Given the description of an element on the screen output the (x, y) to click on. 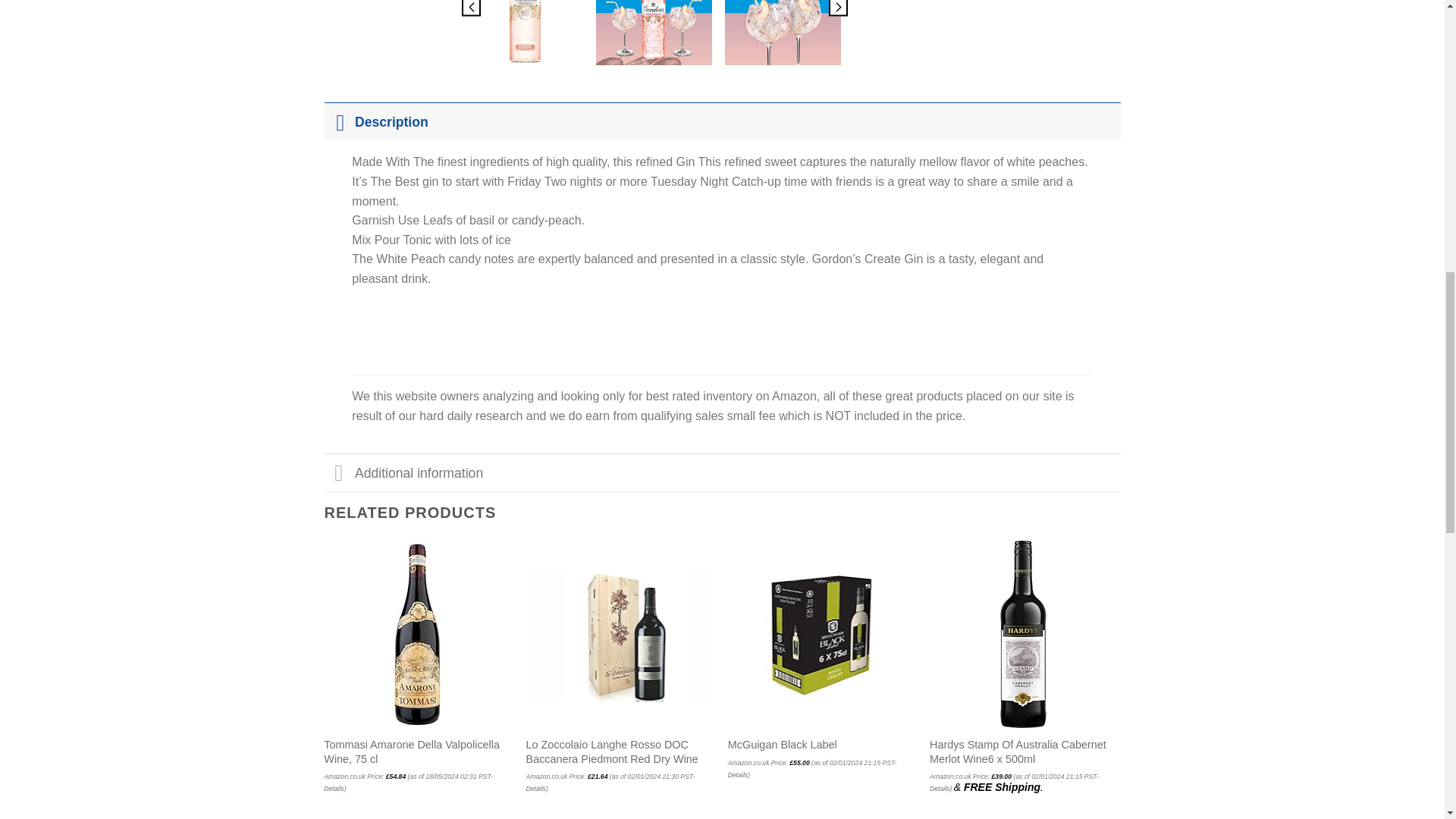
Additional information (722, 472)
Description (722, 121)
